Given the description of an element on the screen output the (x, y) to click on. 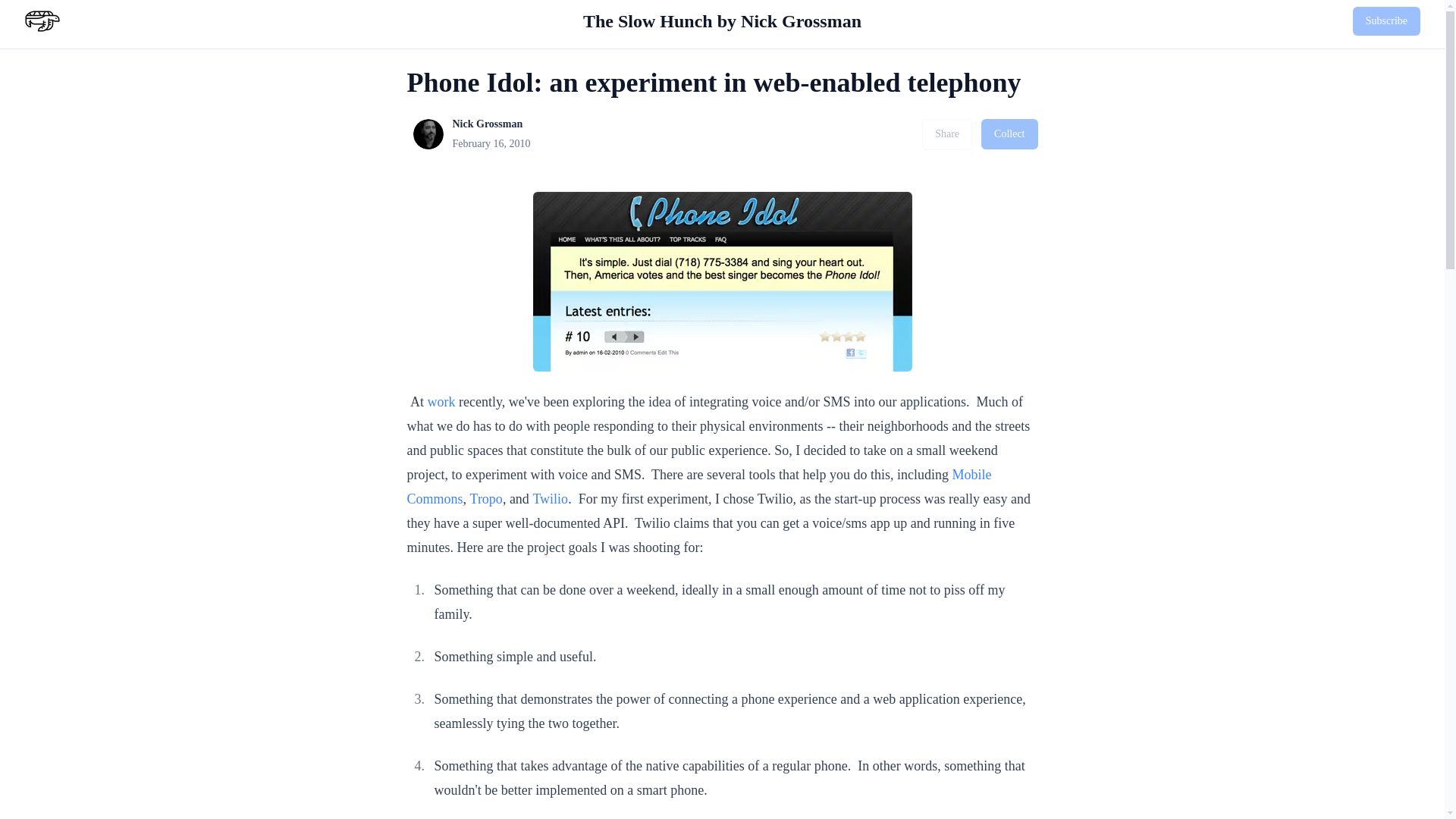
Twilio (549, 498)
work (441, 401)
Nick Grossman (427, 133)
The Slow Hunch by Nick Grossman (722, 21)
Share (946, 133)
Tropo (486, 498)
Subscribe (1386, 21)
Mobile Commons (700, 486)
Collect (1008, 133)
